Given the description of an element on the screen output the (x, y) to click on. 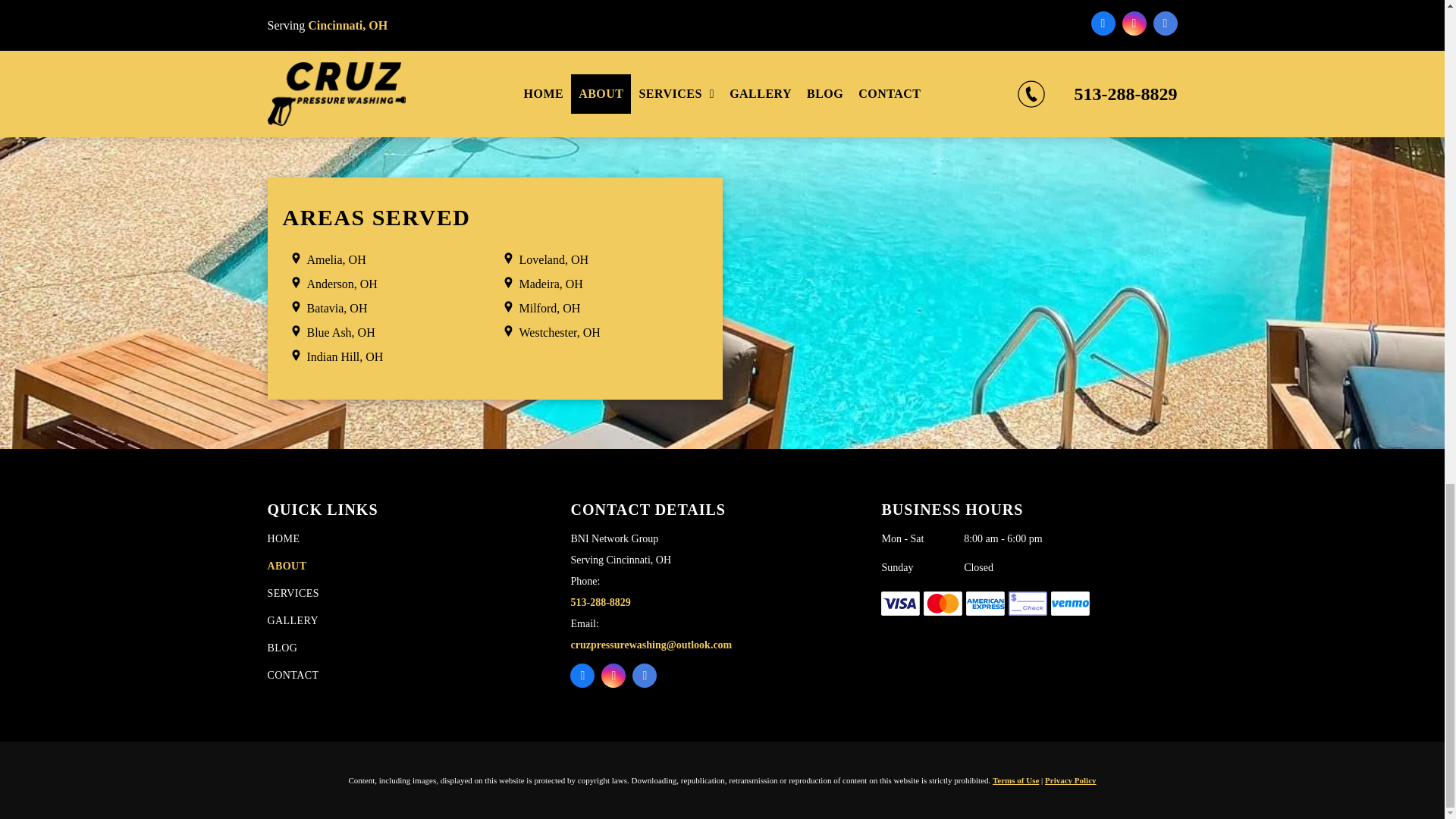
BLOG (414, 651)
GALLERY (414, 624)
CONTACT (414, 678)
513-288-8829 (600, 602)
ABOUT (414, 569)
Privacy Policy (1070, 779)
SERVICES (414, 596)
HOME (414, 542)
Terms of Use (1015, 779)
CONTACT US (721, 5)
